Given the description of an element on the screen output the (x, y) to click on. 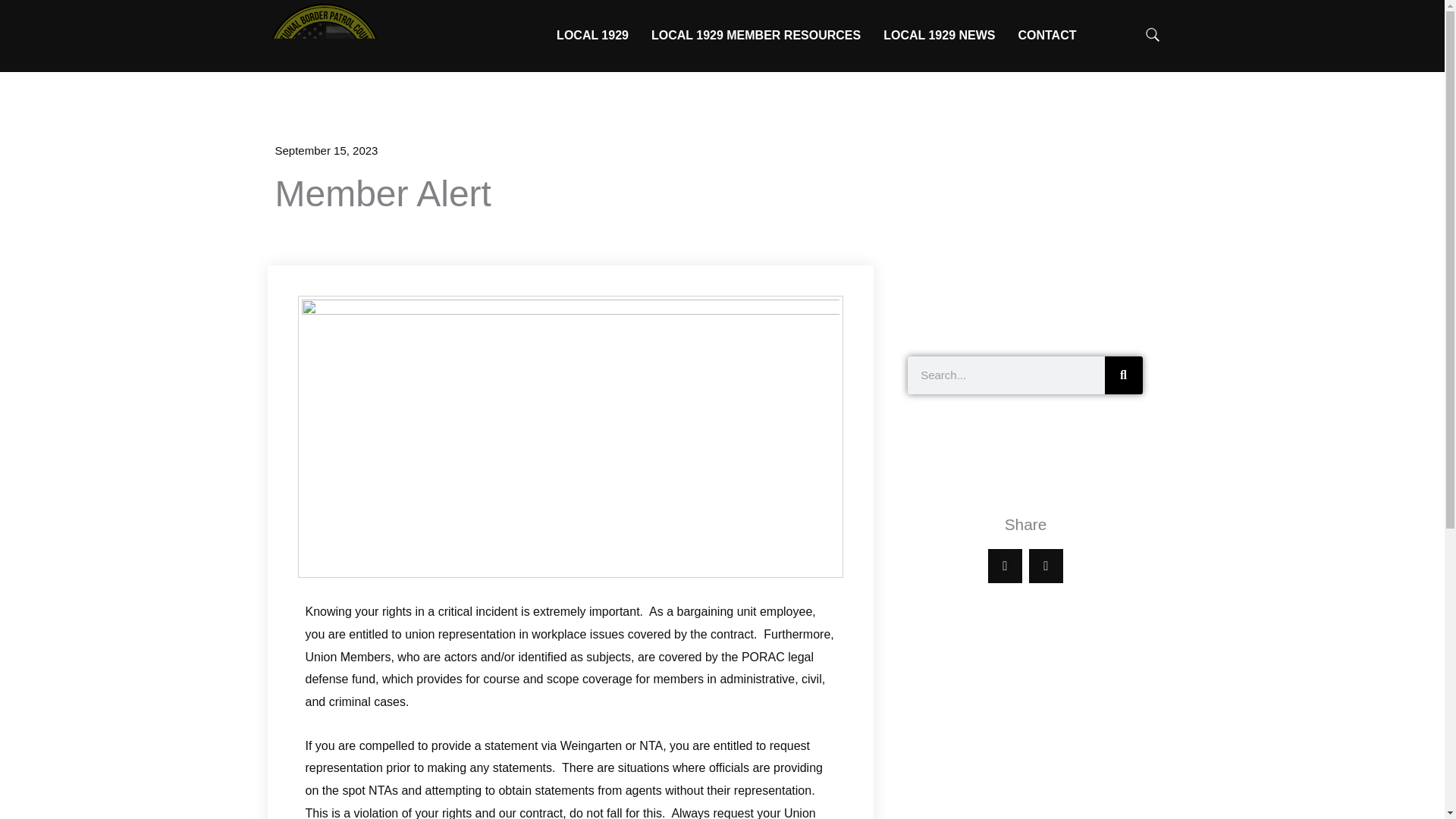
LOCAL 1929 NEWS (939, 35)
LOCAL 1929 (592, 35)
LOCAL 1929 MEMBER RESOURCES (756, 35)
CONTACT (1046, 35)
National Border Patrol Council (323, 60)
